Given the description of an element on the screen output the (x, y) to click on. 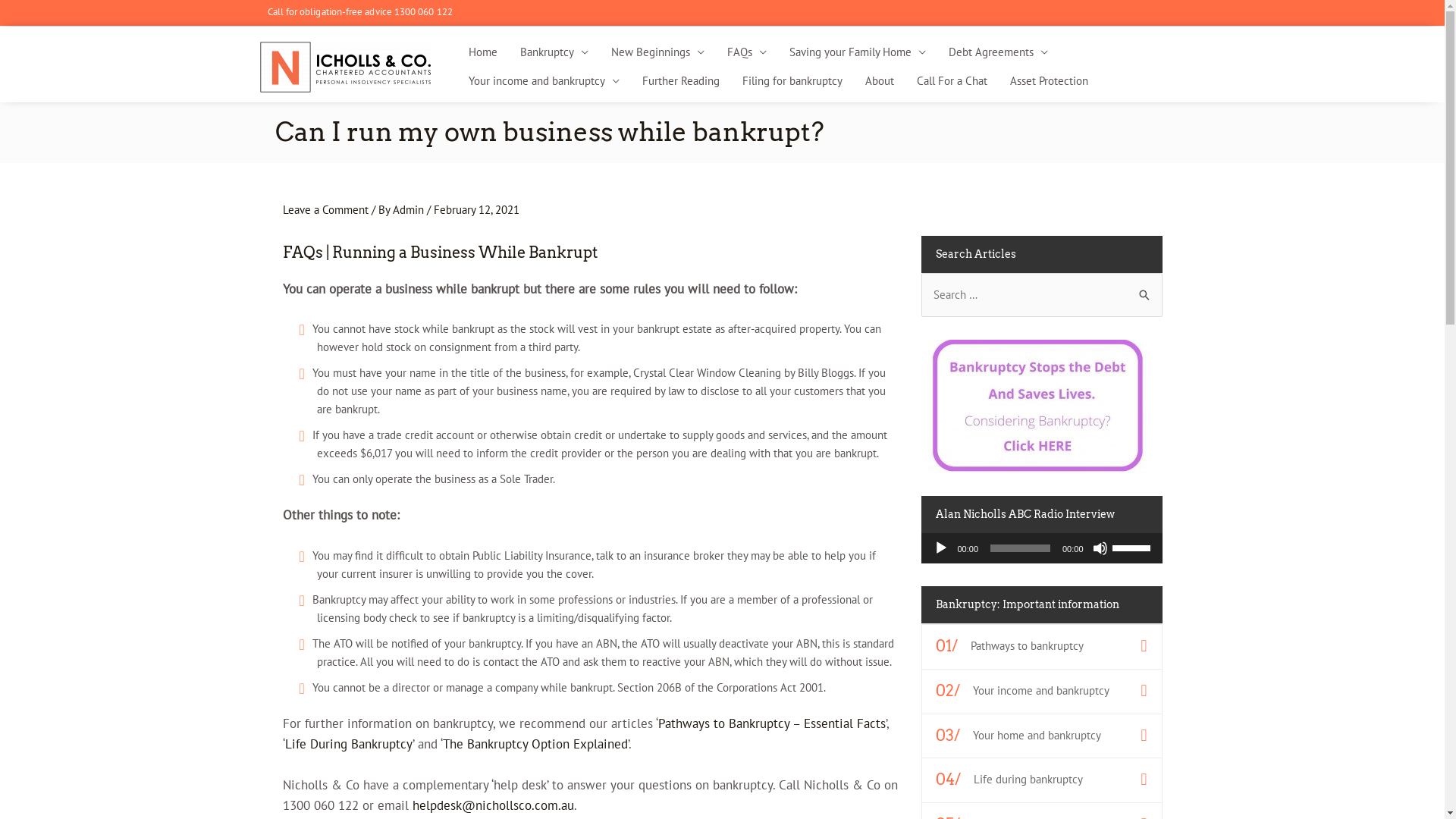
Asset Protection Element type: text (1047, 80)
Home Element type: text (482, 51)
Further Reading Element type: text (680, 80)
Search Element type: text (1145, 288)
helpdesk@nichollsco.com.au Element type: text (493, 805)
Admin Element type: text (409, 209)
The Bankruptcy Option Explained Element type: text (534, 743)
About Element type: text (879, 80)
New Beginnings Element type: text (657, 51)
03/
Your home and bankruptcy Element type: text (1041, 733)
Your income and bankruptcy Element type: text (543, 80)
01/
Pathways to bankruptcy Element type: text (1041, 645)
Use Up/Down Arrow keys to increase or decrease volume. Element type: text (1132, 546)
Life During Bankruptcy Element type: text (348, 743)
Bankruptcy Element type: text (553, 51)
04/
Life during bankruptcy Element type: text (1041, 778)
Saving your Family Home Element type: text (857, 51)
Debt Agreements Element type: text (998, 51)
Play Element type: hover (939, 547)
Call For a Chat Element type: text (951, 80)
Filing for bankruptcy Element type: text (792, 80)
FAQs Element type: text (746, 51)
02/
Your income and bankruptcy Element type: text (1041, 689)
Mute Element type: hover (1099, 547)
Leave a Comment Element type: text (324, 209)
